Given the description of an element on the screen output the (x, y) to click on. 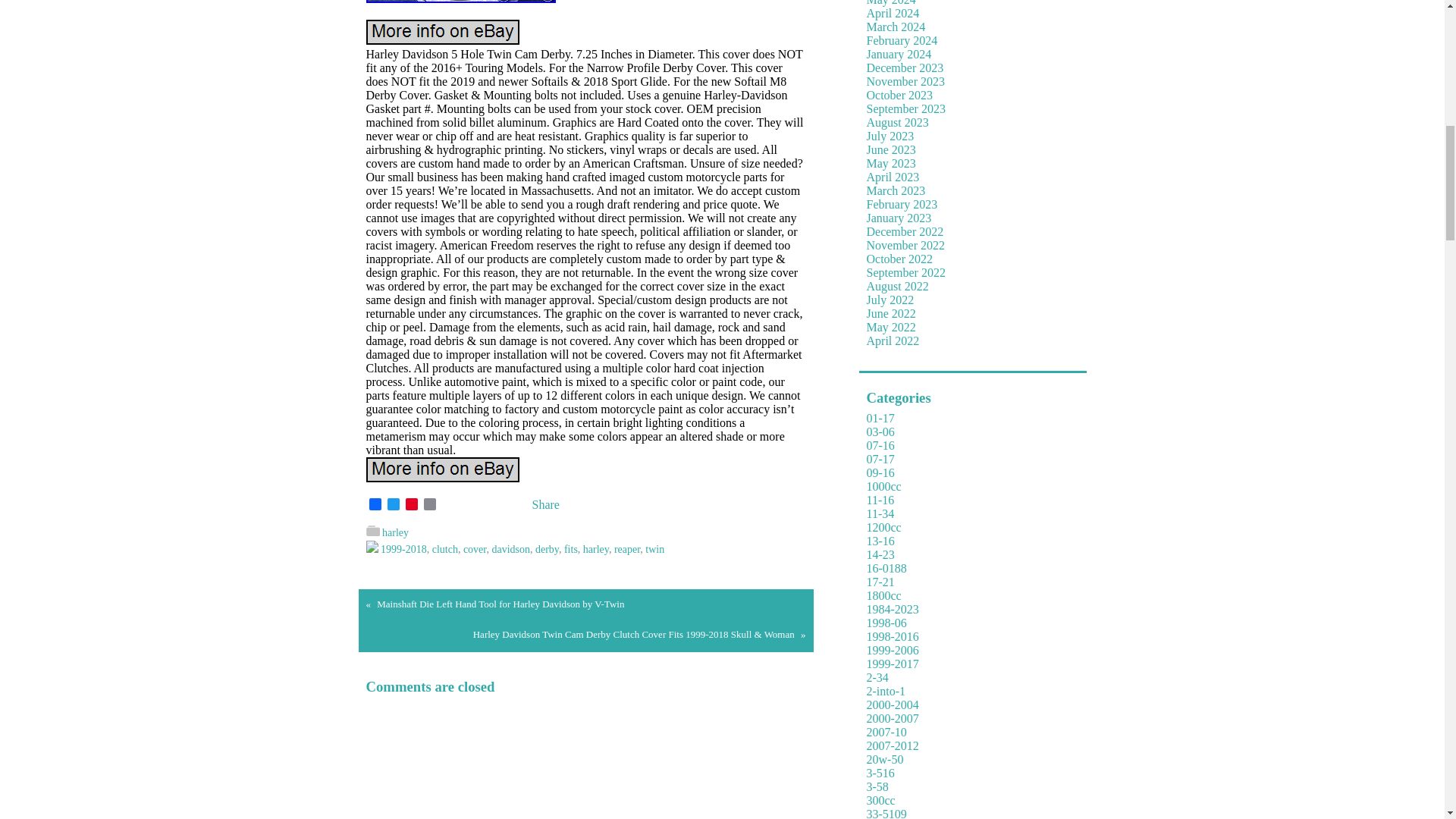
derby (547, 549)
harley (595, 549)
Facebook (374, 504)
Twitter (392, 504)
Facebook (374, 504)
reaper (627, 549)
Email (429, 504)
clutch (445, 549)
twin (654, 549)
1999-2018 (403, 549)
May 2024 (890, 2)
Mainshaft Die Left Hand Tool for Harley Davidson by V-Twin (499, 603)
Share (535, 504)
